Given the description of an element on the screen output the (x, y) to click on. 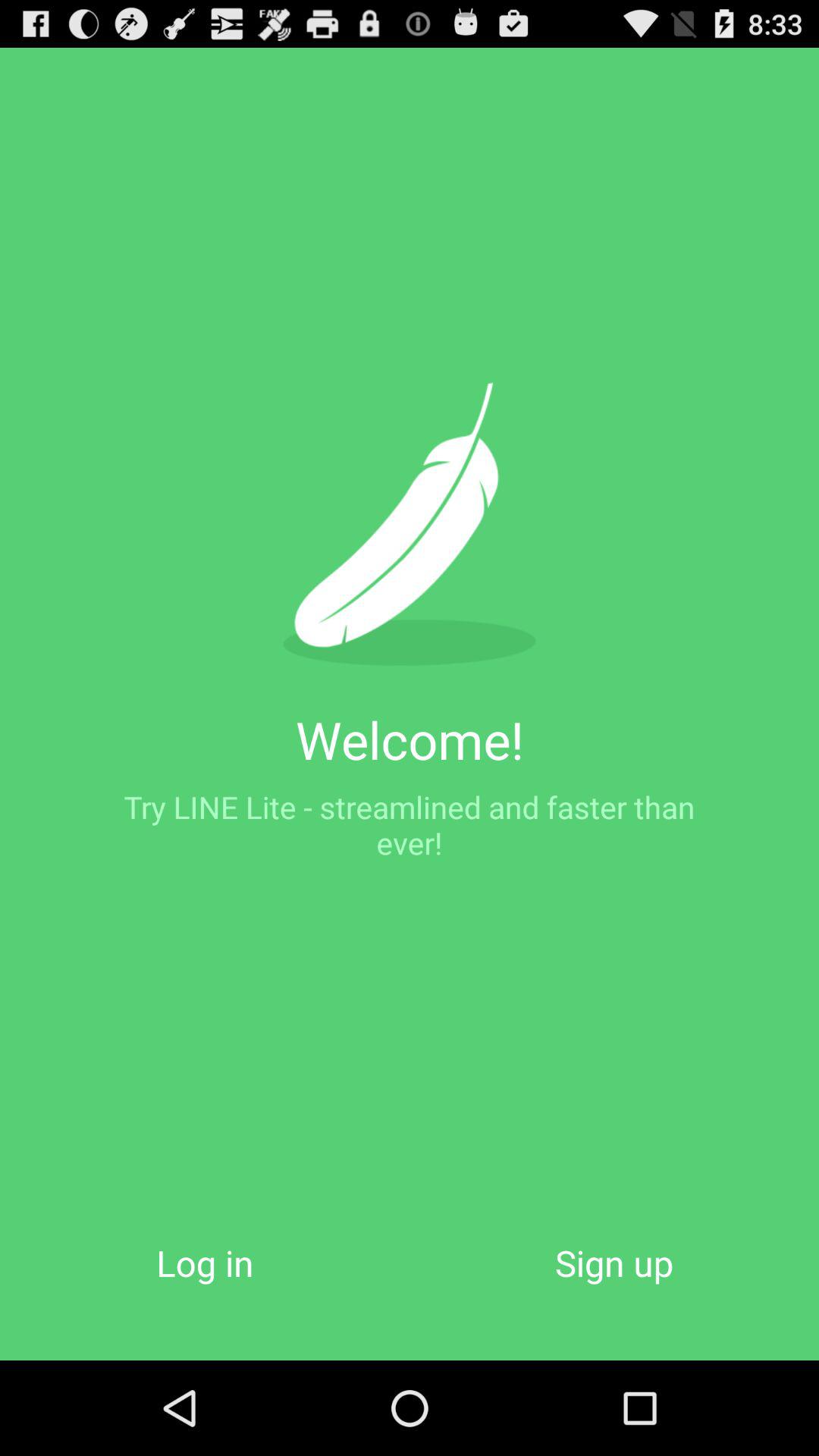
press the item below the try line lite app (204, 1262)
